Given the description of an element on the screen output the (x, y) to click on. 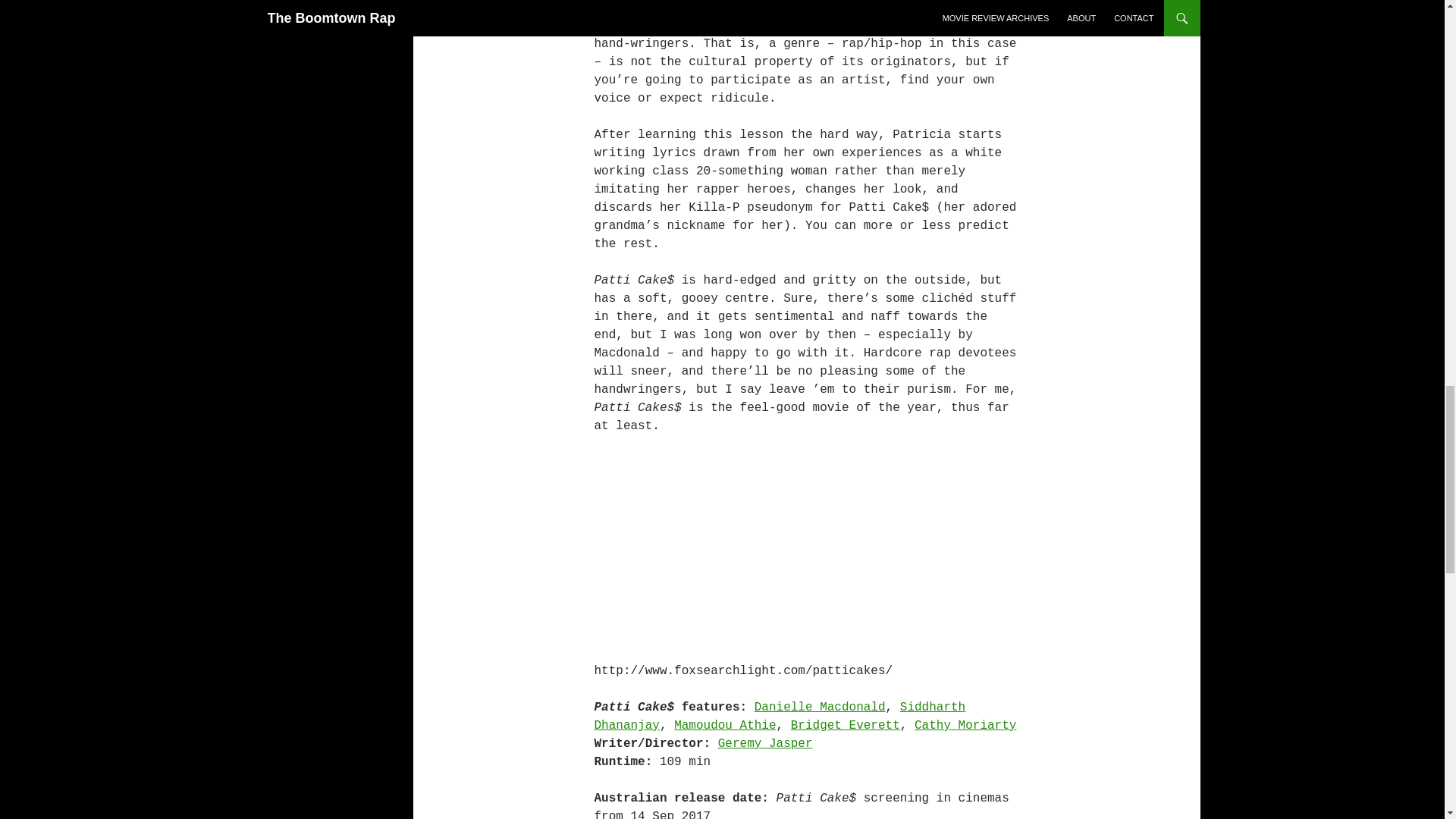
Danielle Macdonald (819, 707)
Geremy Jasper (764, 744)
Bridget Everett (844, 725)
Cathy Moriarty (965, 725)
Siddharth Dhananjay (780, 716)
Mamoudou Athie (725, 725)
